Given the description of an element on the screen output the (x, y) to click on. 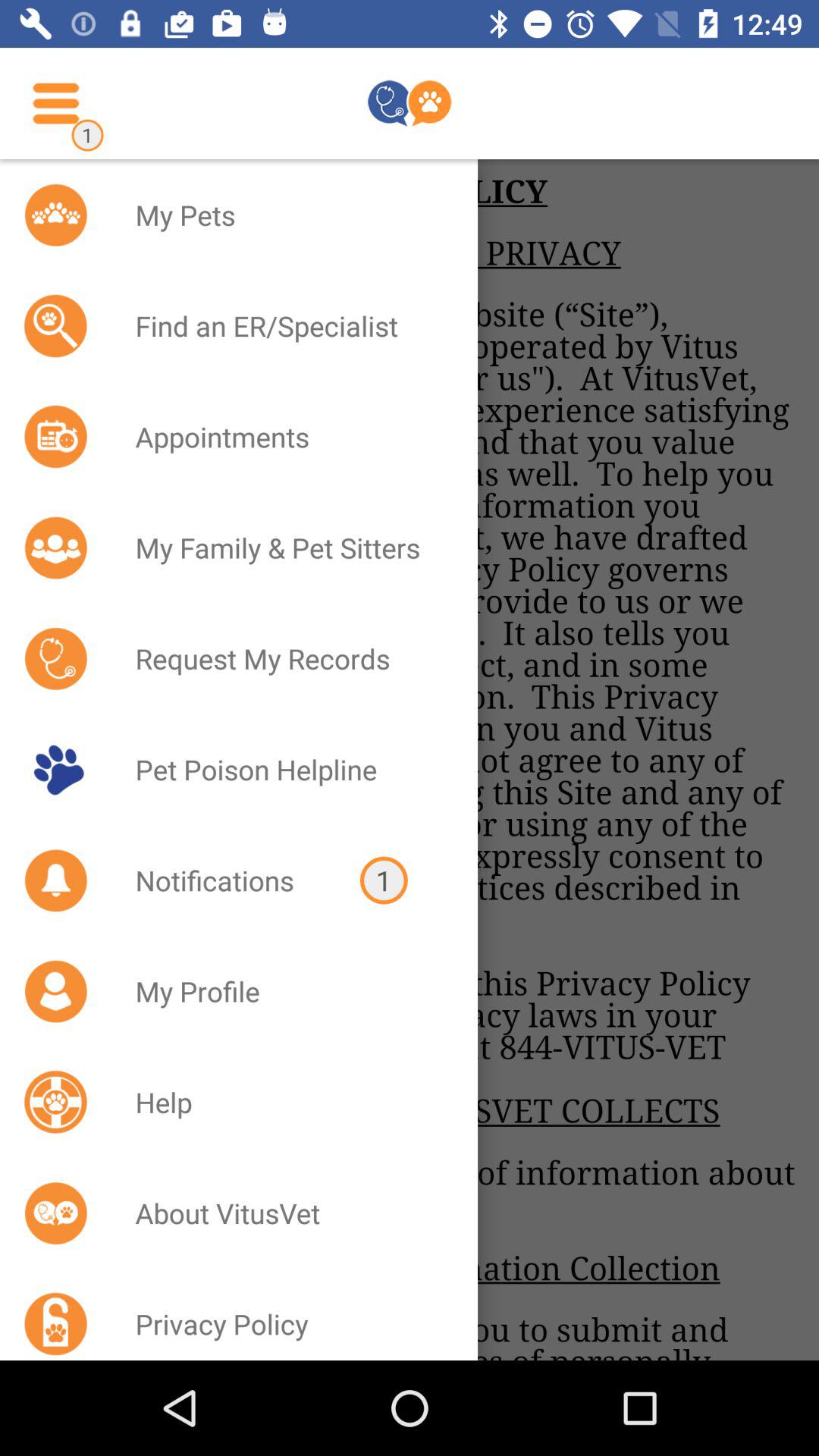
press notifications icon (227, 880)
